Given the description of an element on the screen output the (x, y) to click on. 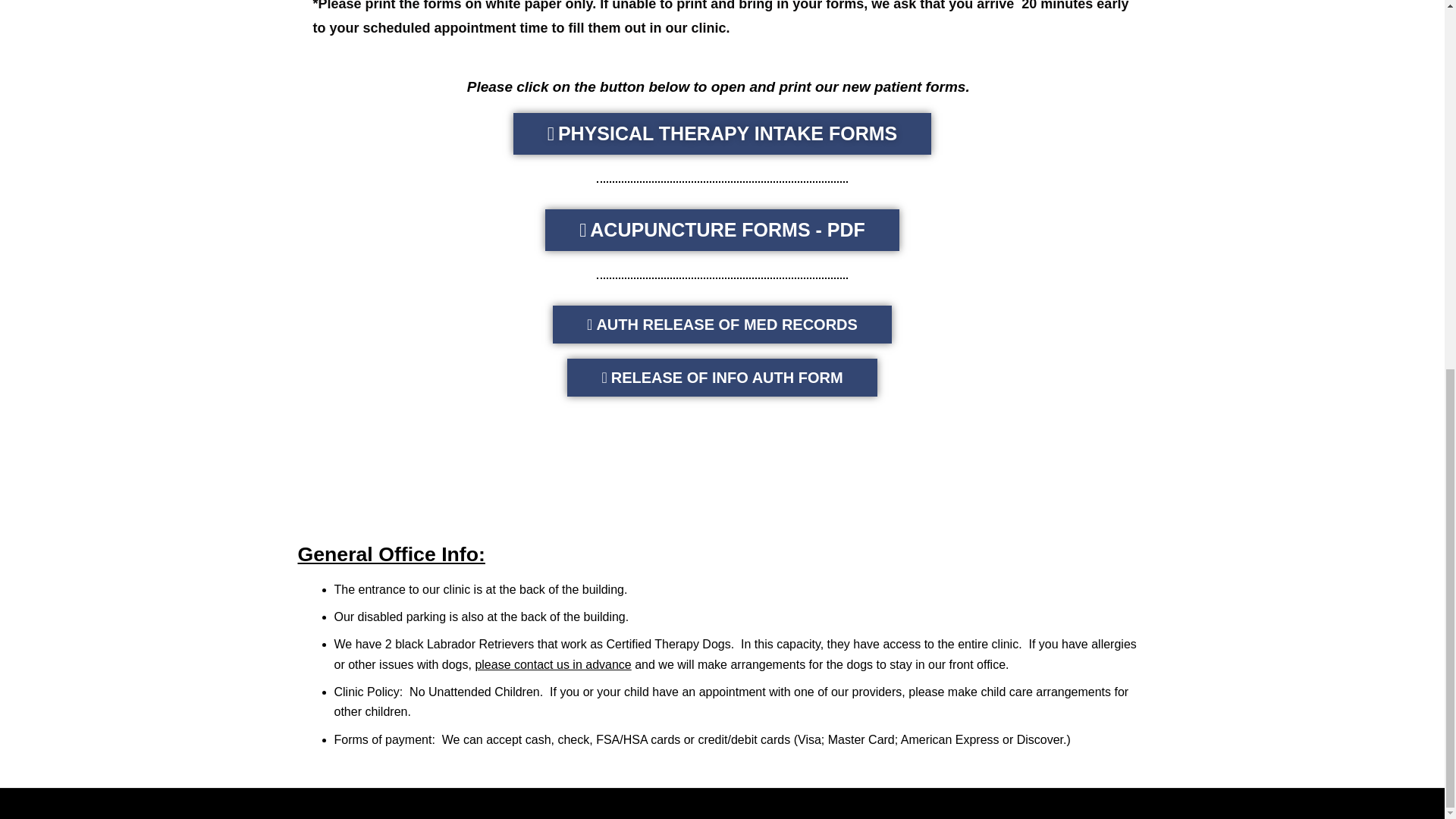
RELEASE OF INFO AUTH FORM (721, 377)
PHYSICAL THERAPY INTAKE FORMS (722, 133)
ACUPUNCTURE FORMS - PDF (721, 229)
AUTH RELEASE OF MED RECORDS (722, 324)
